Given the description of an element on the screen output the (x, y) to click on. 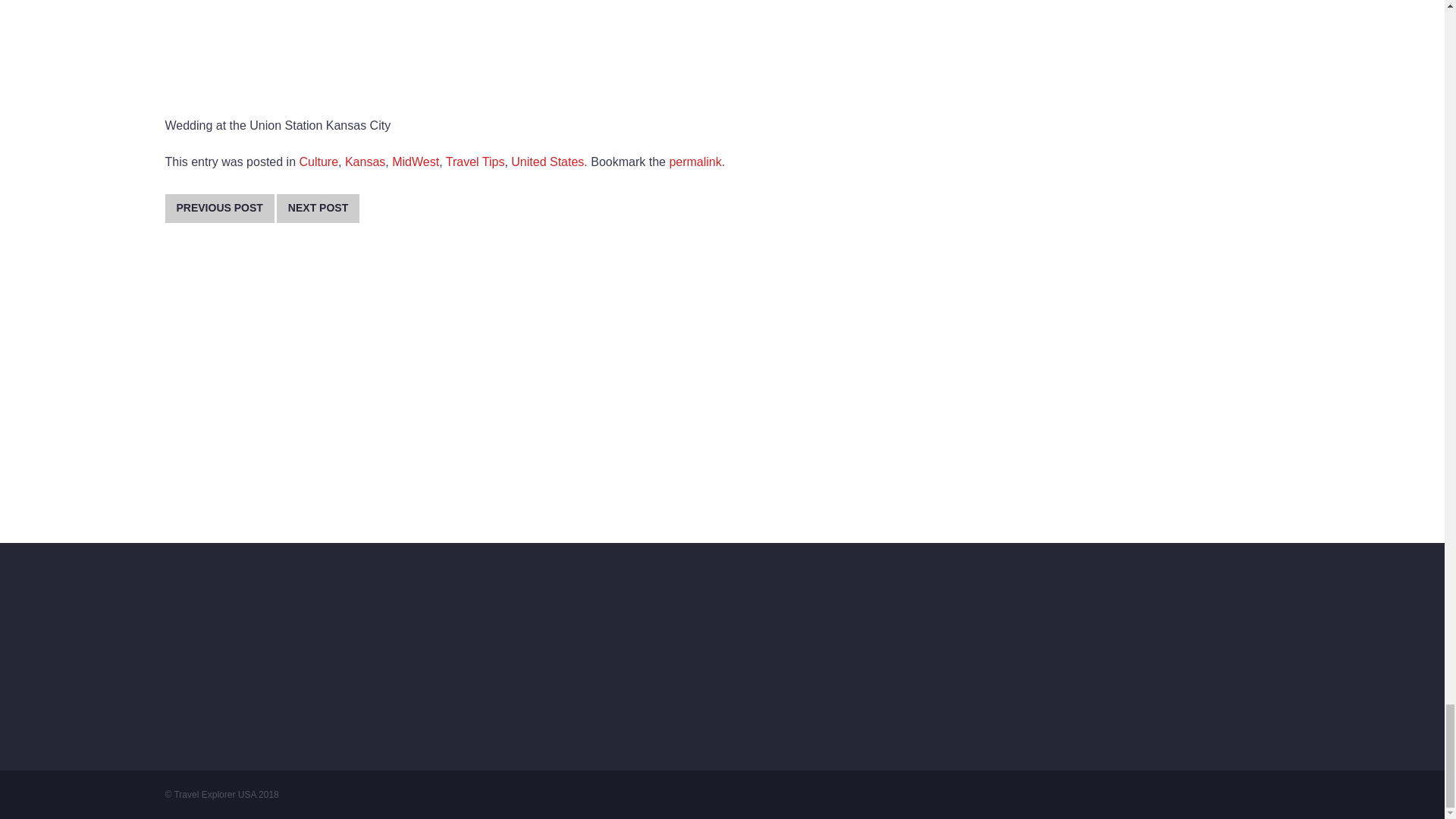
MidWest (415, 162)
PREVIOUS POST (220, 208)
Travel Explorer USA (225, 795)
Culture (317, 162)
permalink (694, 162)
Kansas (365, 162)
United States (547, 162)
Travel Tips (475, 162)
NEXT POST (317, 208)
